Given the description of an element on the screen output the (x, y) to click on. 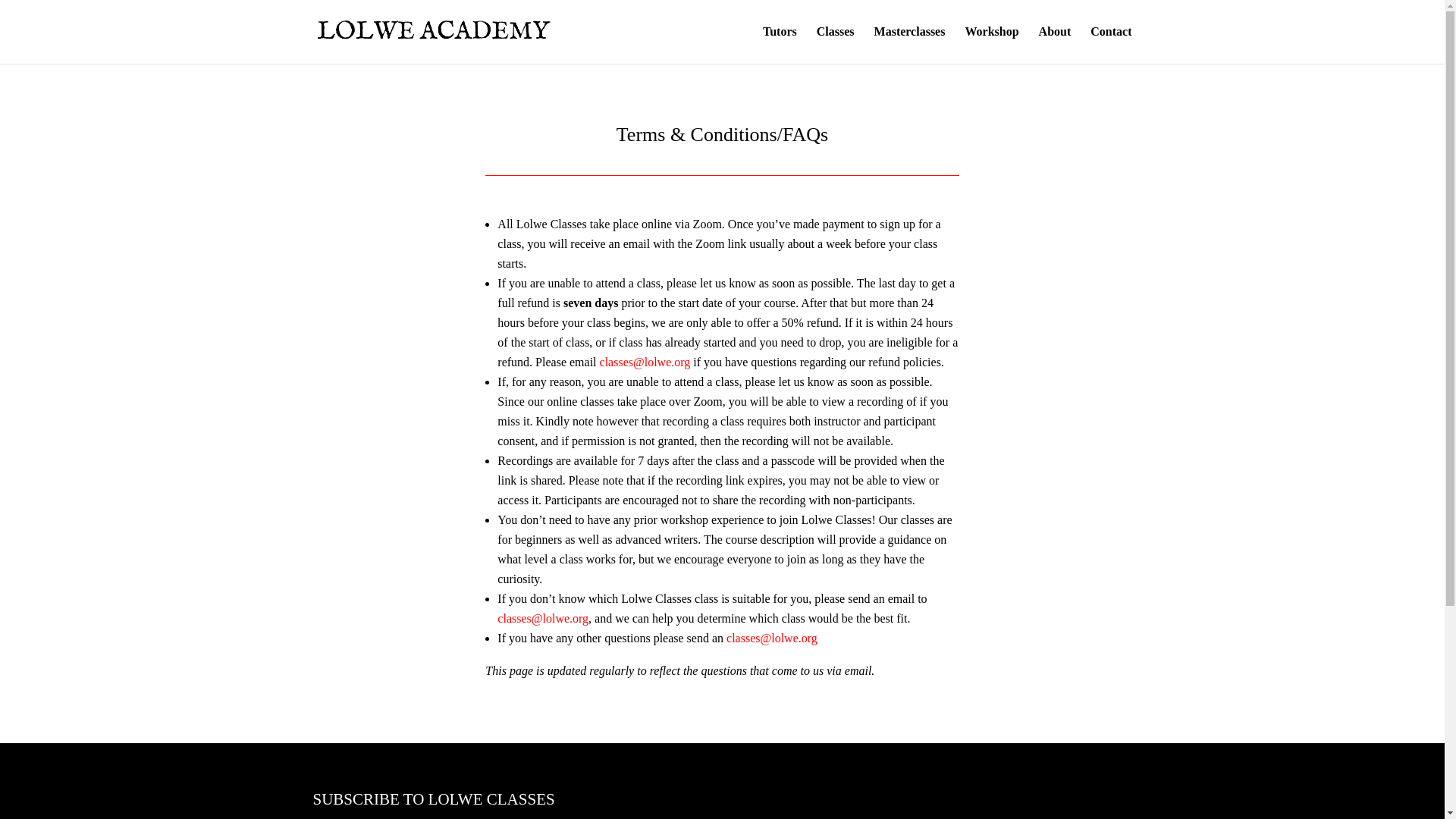
Classes (835, 44)
Contact (1110, 44)
Masterclasses (909, 44)
Tutors (779, 44)
Workshop (990, 44)
